Given the description of an element on the screen output the (x, y) to click on. 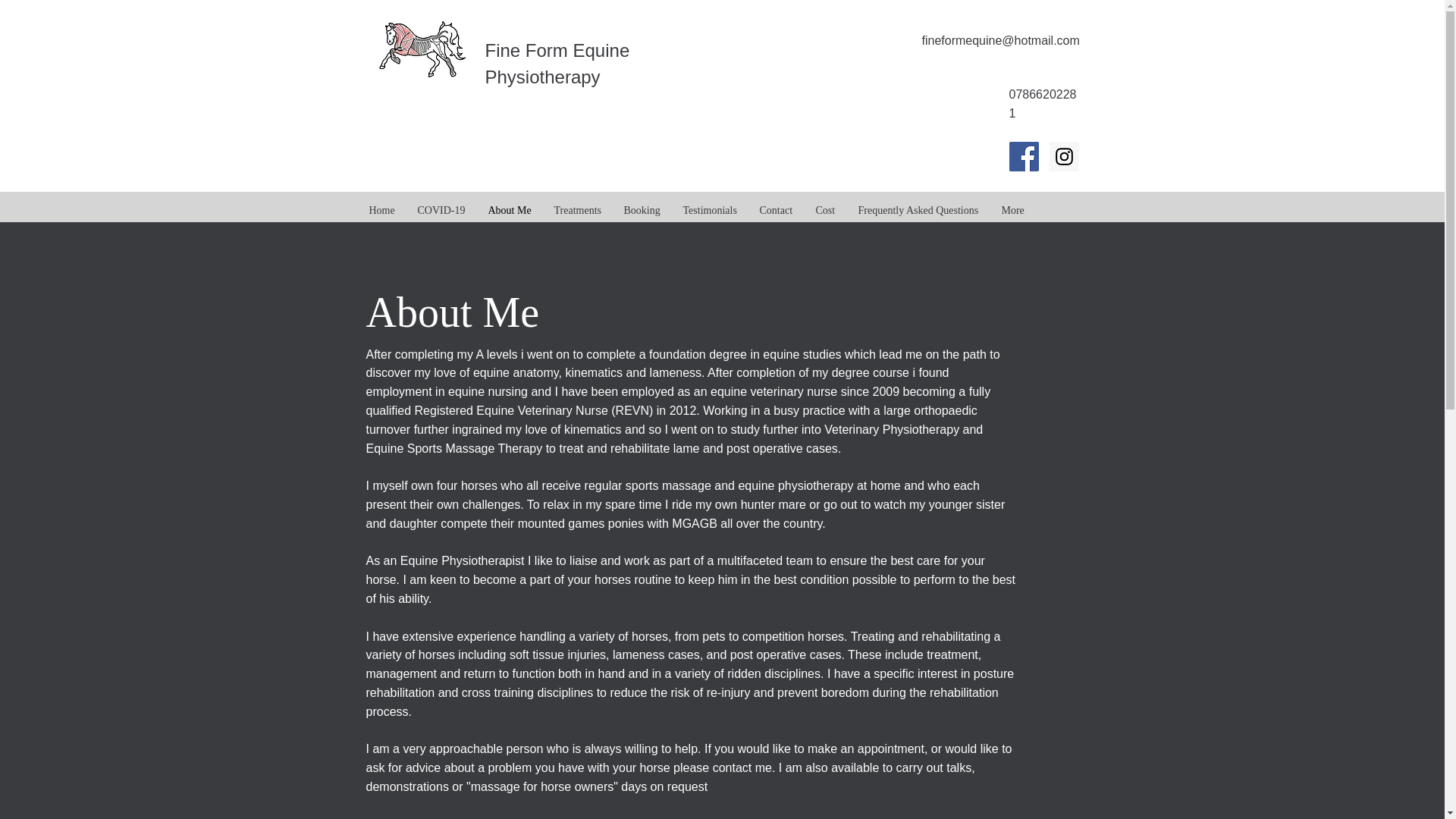
Home (382, 210)
Frequently Asked Questions (917, 210)
About Me (508, 210)
Booking (641, 210)
Treatments (577, 210)
Testimonials (709, 210)
Contact (775, 210)
Cost (824, 210)
COVID-19 (441, 210)
